Given the description of an element on the screen output the (x, y) to click on. 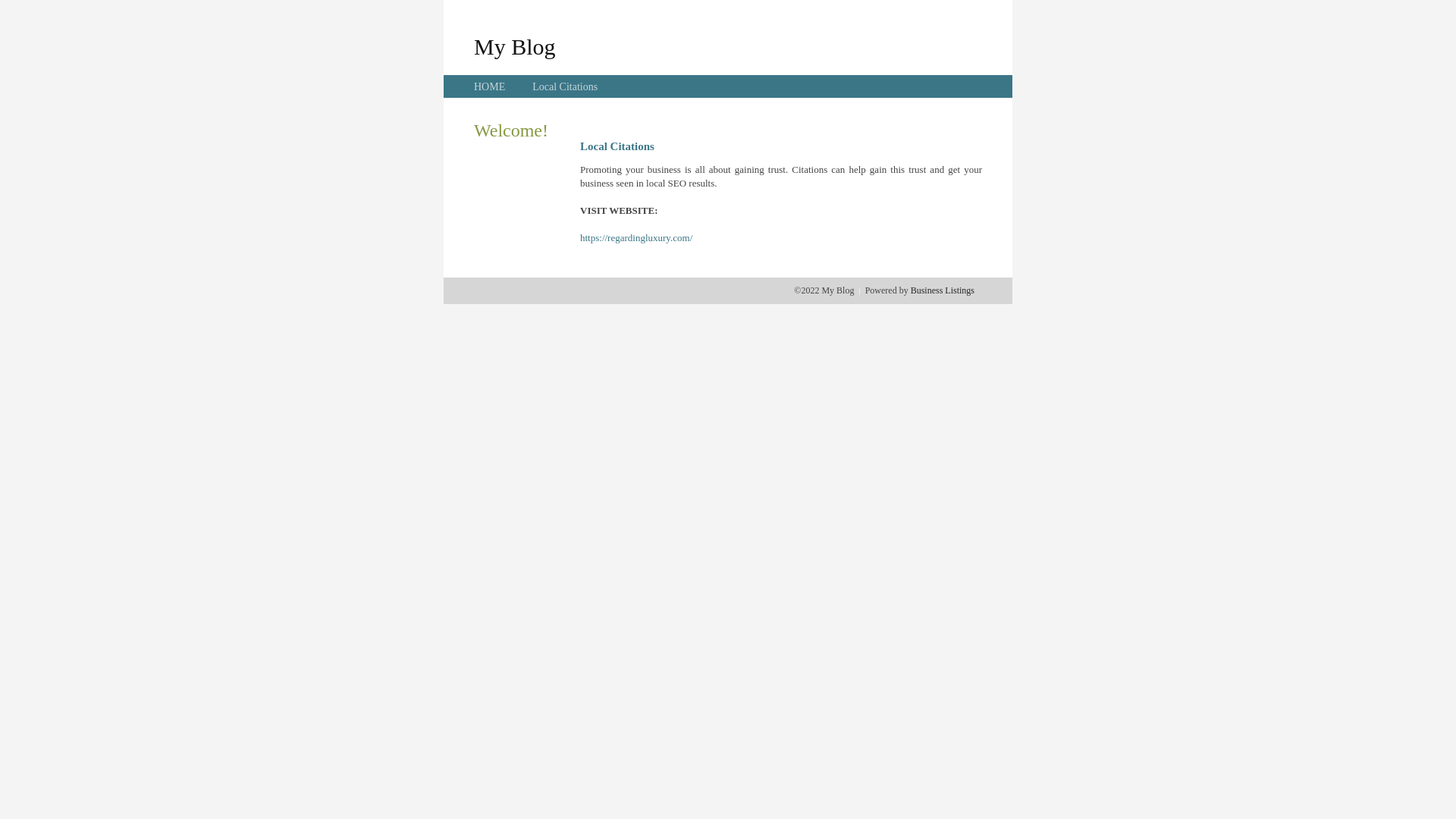
My Blog Element type: text (514, 46)
Local Citations Element type: text (564, 86)
HOME Element type: text (489, 86)
Business Listings Element type: text (942, 290)
https://regardingluxury.com/ Element type: text (636, 237)
